Given the description of an element on the screen output the (x, y) to click on. 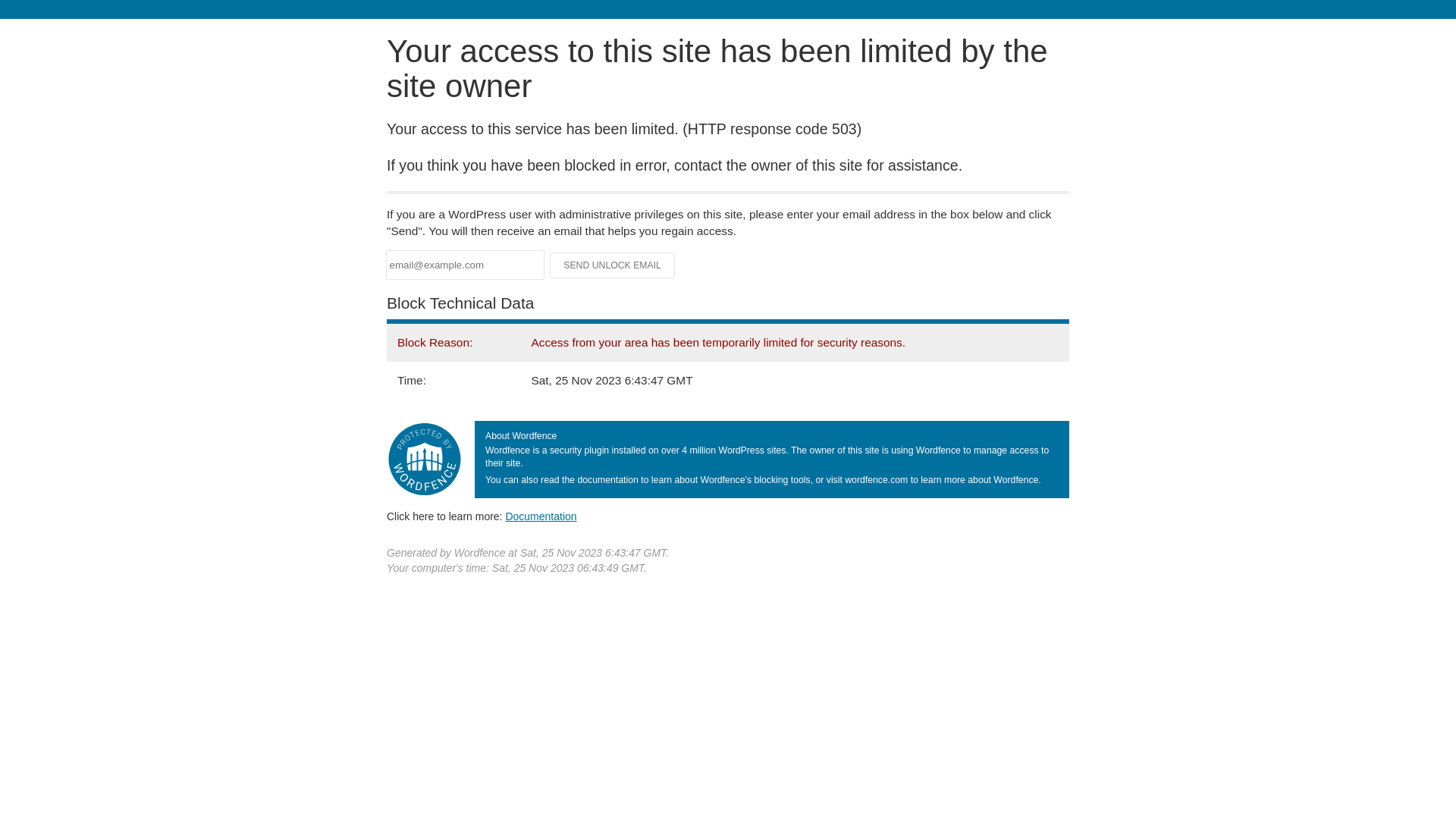
Documentation Element type: text (540, 516)
Send Unlock Email Element type: text (612, 265)
